Given the description of an element on the screen output the (x, y) to click on. 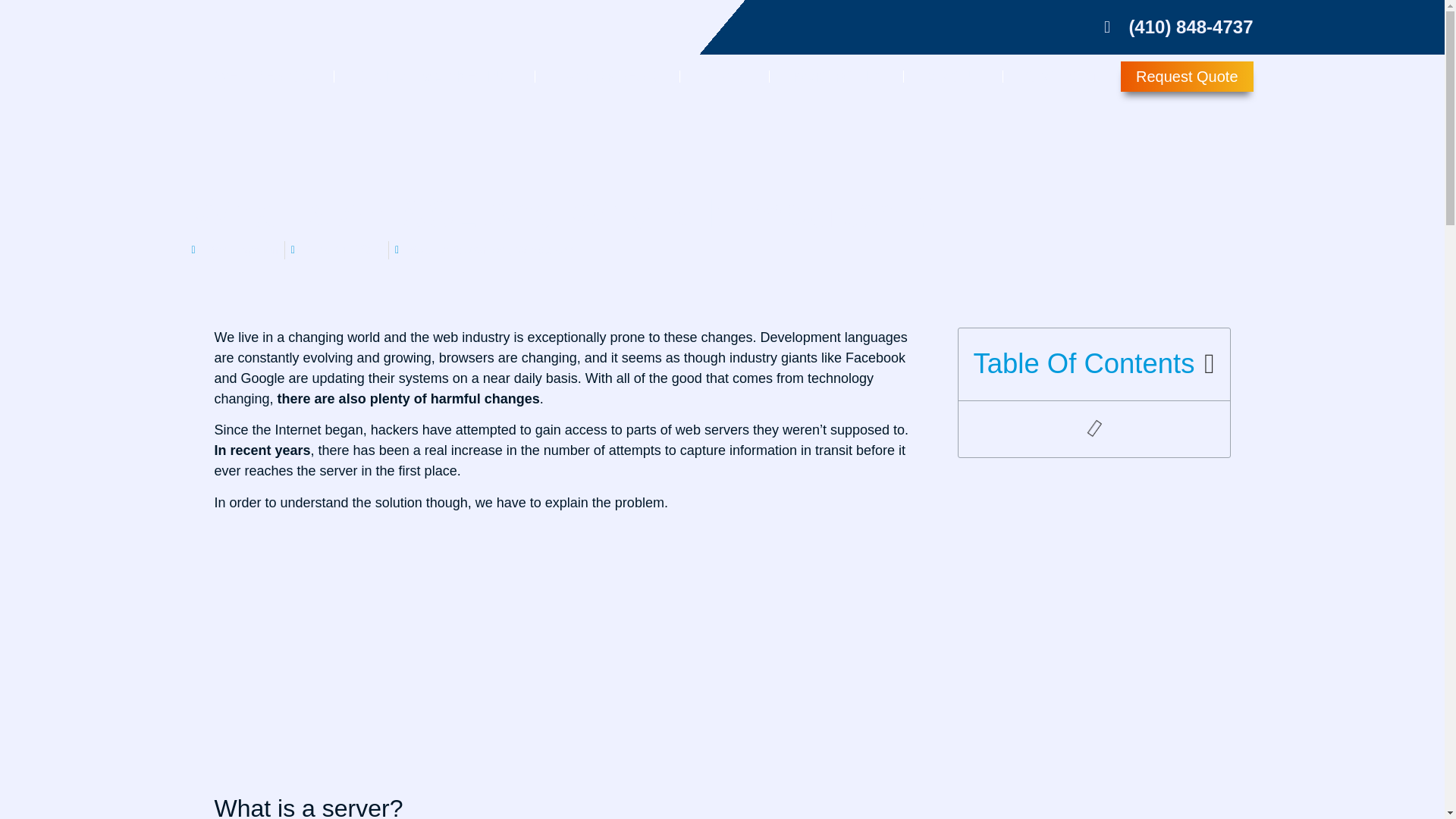
CONTACT (1062, 76)
Wordpress (544, 249)
DIGITAL MARKETING (434, 76)
ABOUT (953, 76)
BLOG (723, 76)
WORDPRESS (607, 76)
What is an SSL Certificate? (403, 650)
PORTFOLIO (836, 76)
WEB DESIGN (261, 76)
Web Development (458, 249)
